Given the description of an element on the screen output the (x, y) to click on. 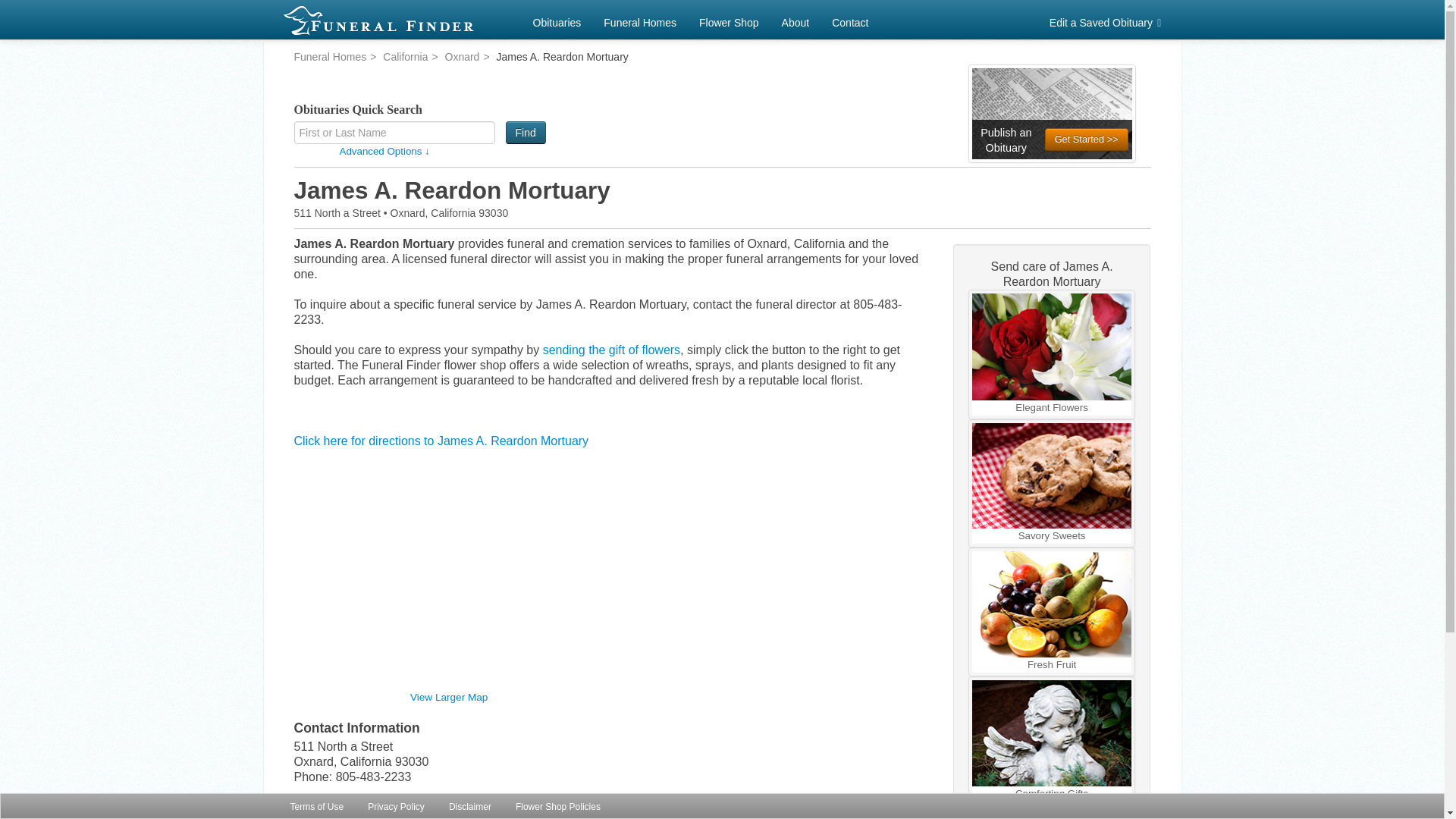
Privacy Policy (395, 806)
View Larger Map (448, 696)
Edit a Saved Obituary (1107, 19)
Disclaimer (470, 806)
California (405, 56)
Funeral Homes (639, 19)
Contact (850, 19)
Obituaries (556, 19)
Funeral Homes (330, 56)
Flower Shop (728, 19)
Savory Sweets (1052, 483)
Click here for directions to James A. Reardon Mortuary (441, 440)
sending the gift of flowers (611, 349)
Flower Shop Policies (557, 806)
About (795, 19)
